Given the description of an element on the screen output the (x, y) to click on. 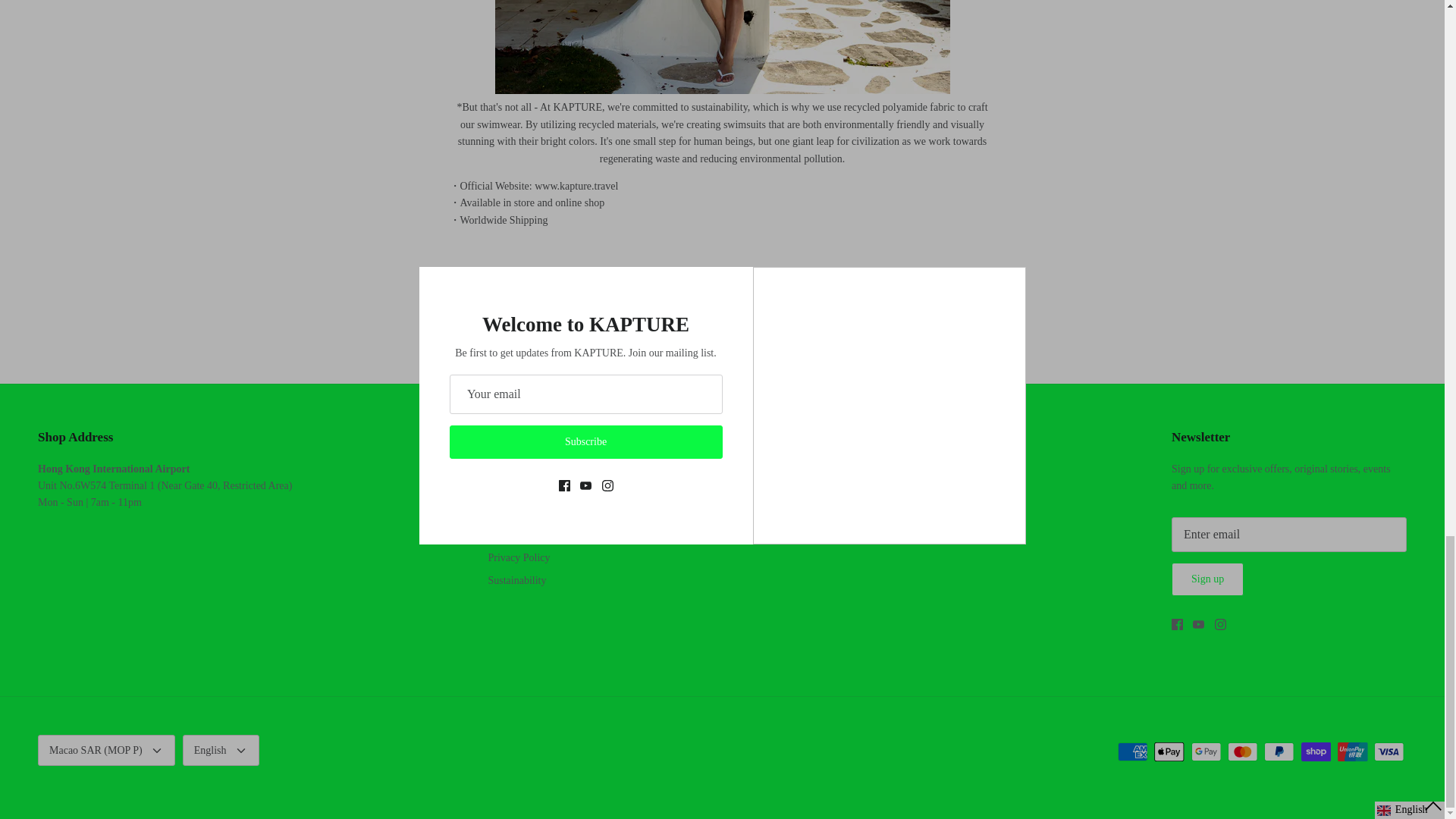
Facebook (484, 275)
American Express (1132, 751)
Instagram (1219, 624)
Facebook (1177, 624)
Left (516, 337)
Twitter (506, 275)
Dayglow One Shoulder Cut Out Recylced One Piece Swimsuit (722, 90)
Facebook (730, 508)
Youtube (1198, 624)
Apple Pay (1168, 751)
Pinterest (526, 275)
Google Pay (1206, 751)
Youtube (758, 508)
Right (930, 337)
Instagram (784, 508)
